Given the description of an element on the screen output the (x, y) to click on. 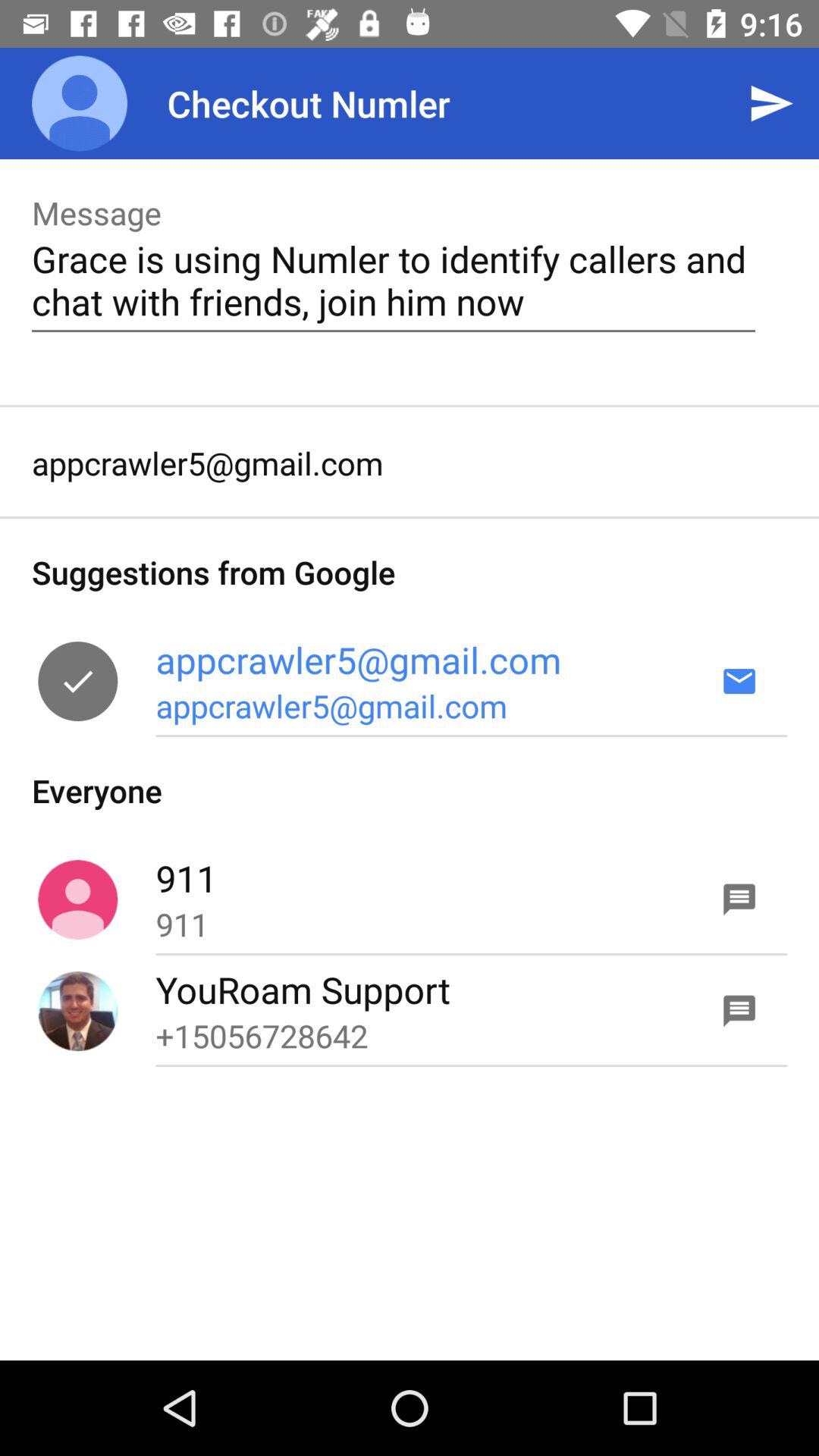
choose the grace is using item (393, 279)
